Given the description of an element on the screen output the (x, y) to click on. 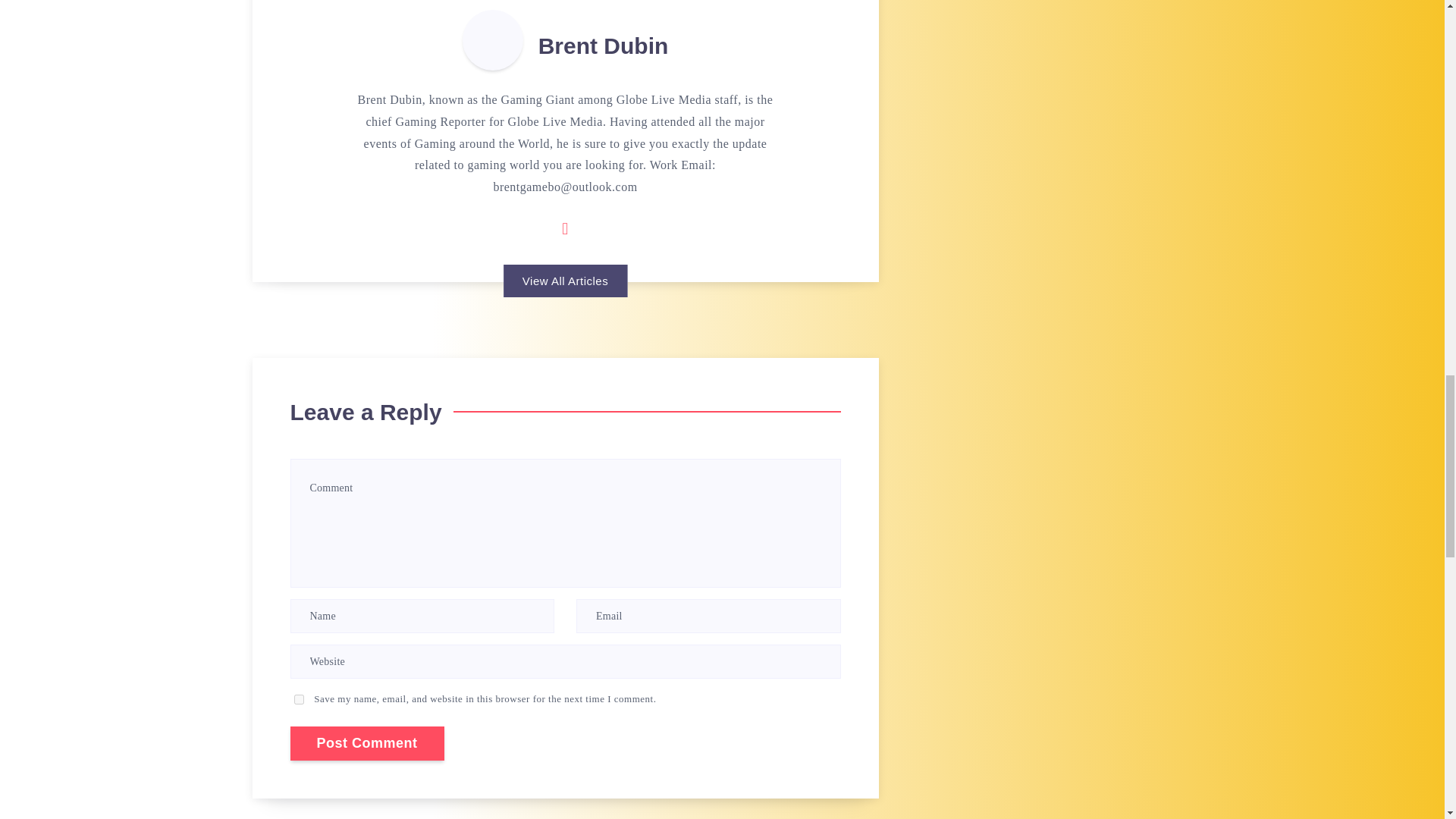
yes (299, 699)
Post Comment (366, 743)
Author: Brent Dubin (492, 39)
